Given the description of an element on the screen output the (x, y) to click on. 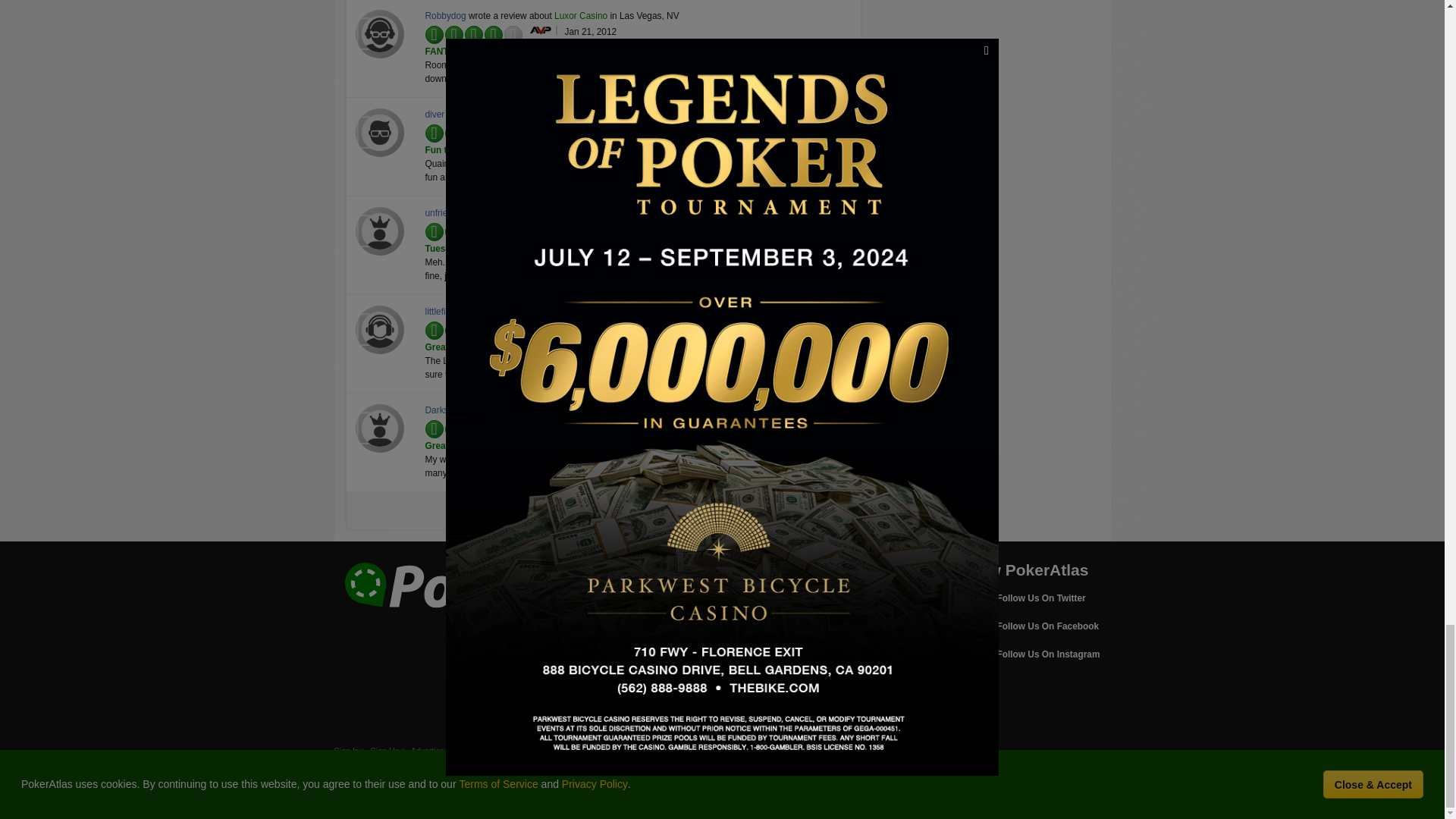
Jan 21, 2012 (589, 31)
Dec 22, 2011 (590, 130)
